Given the description of an element on the screen output the (x, y) to click on. 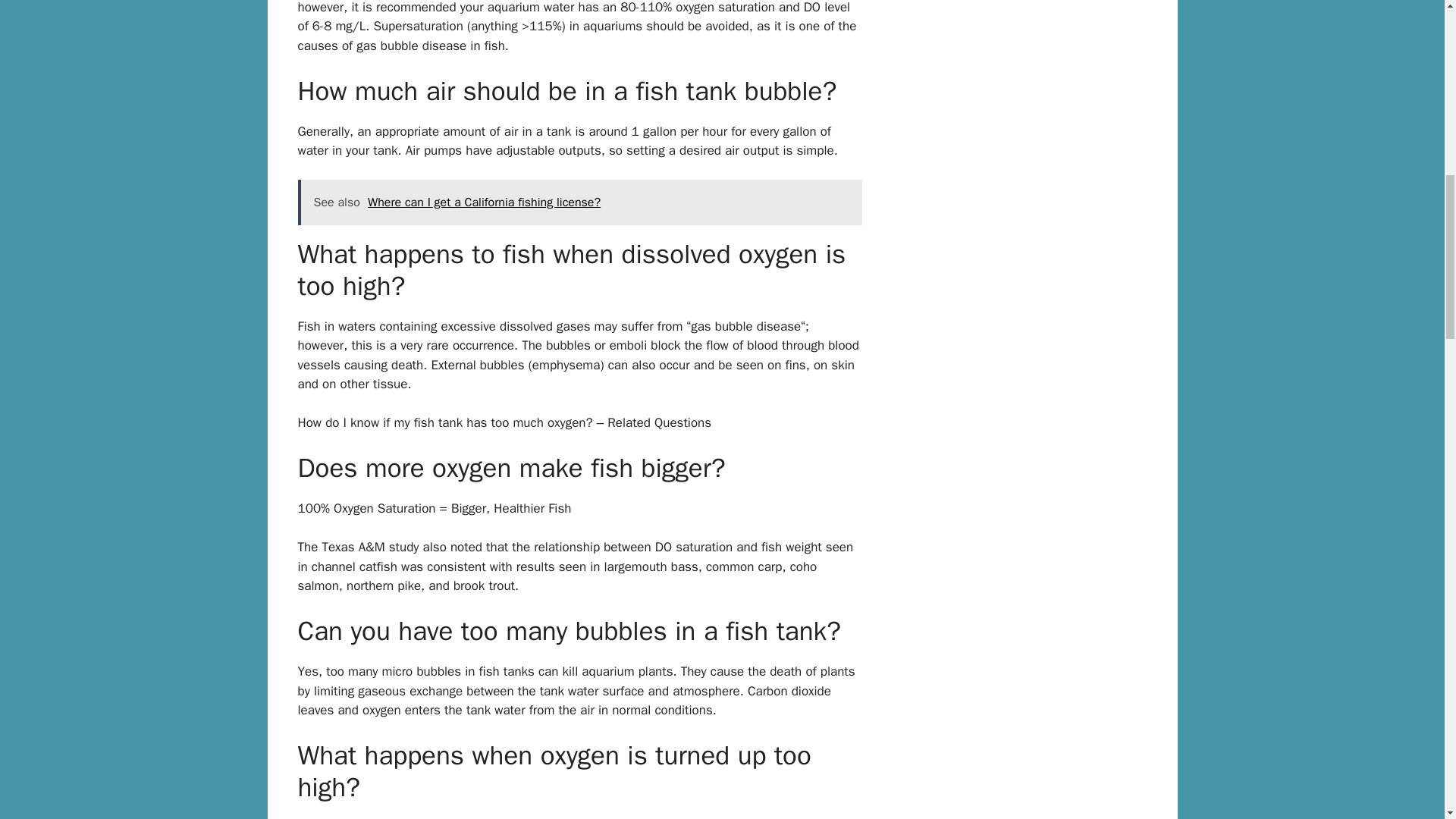
See also  Where can I get a California fishing license? (579, 202)
Scroll back to top (1406, 719)
